Given the description of an element on the screen output the (x, y) to click on. 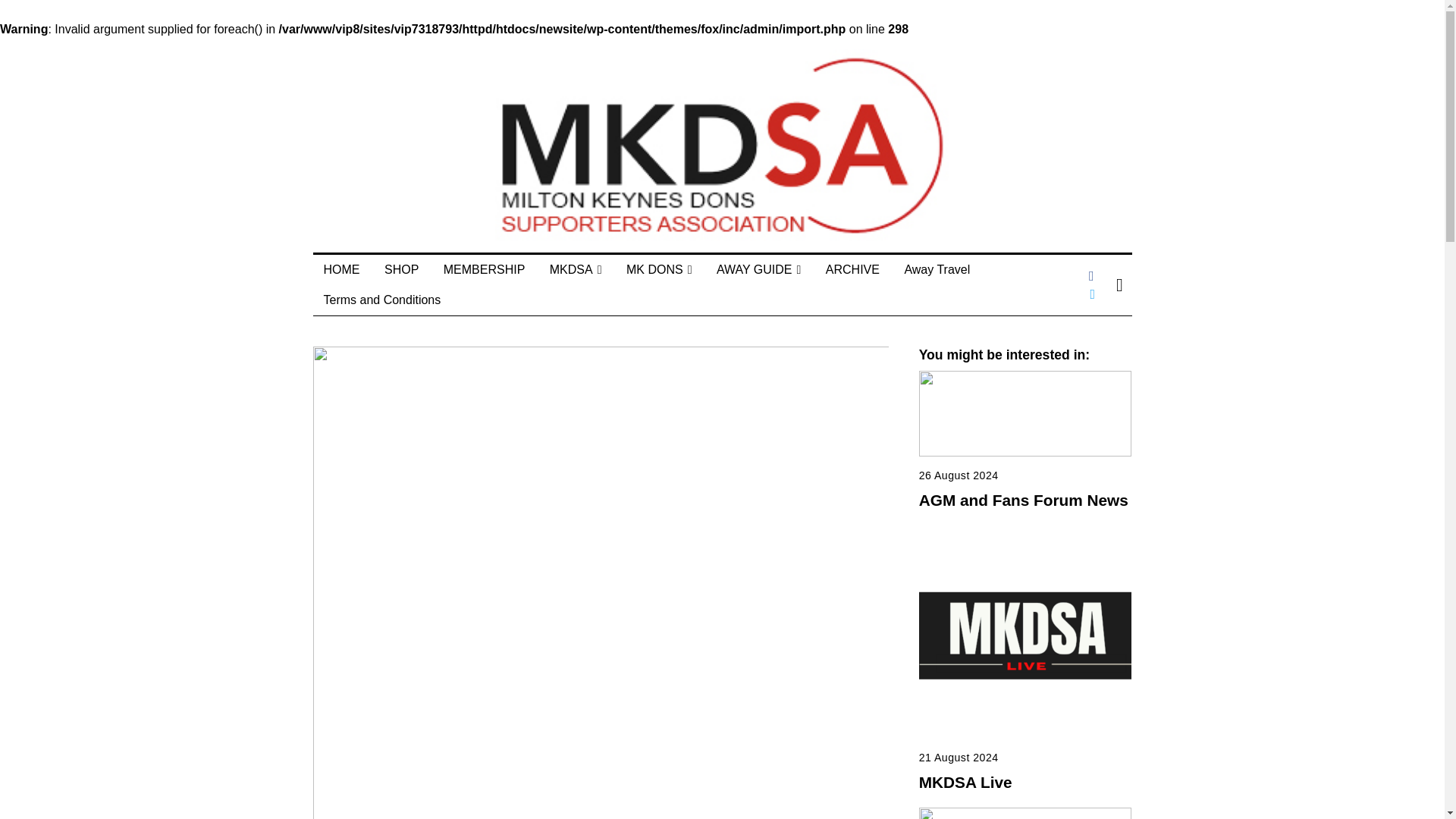
SHOP (401, 269)
Terms and Conditions (382, 300)
Away Travel (936, 269)
MK DONS (659, 269)
MKDSA Live (964, 782)
AGM and Fans Forum News (1023, 499)
MKDSA (575, 269)
ARCHIVE (852, 269)
MEMBERSHIP (483, 269)
HOME (341, 269)
